Given the description of an element on the screen output the (x, y) to click on. 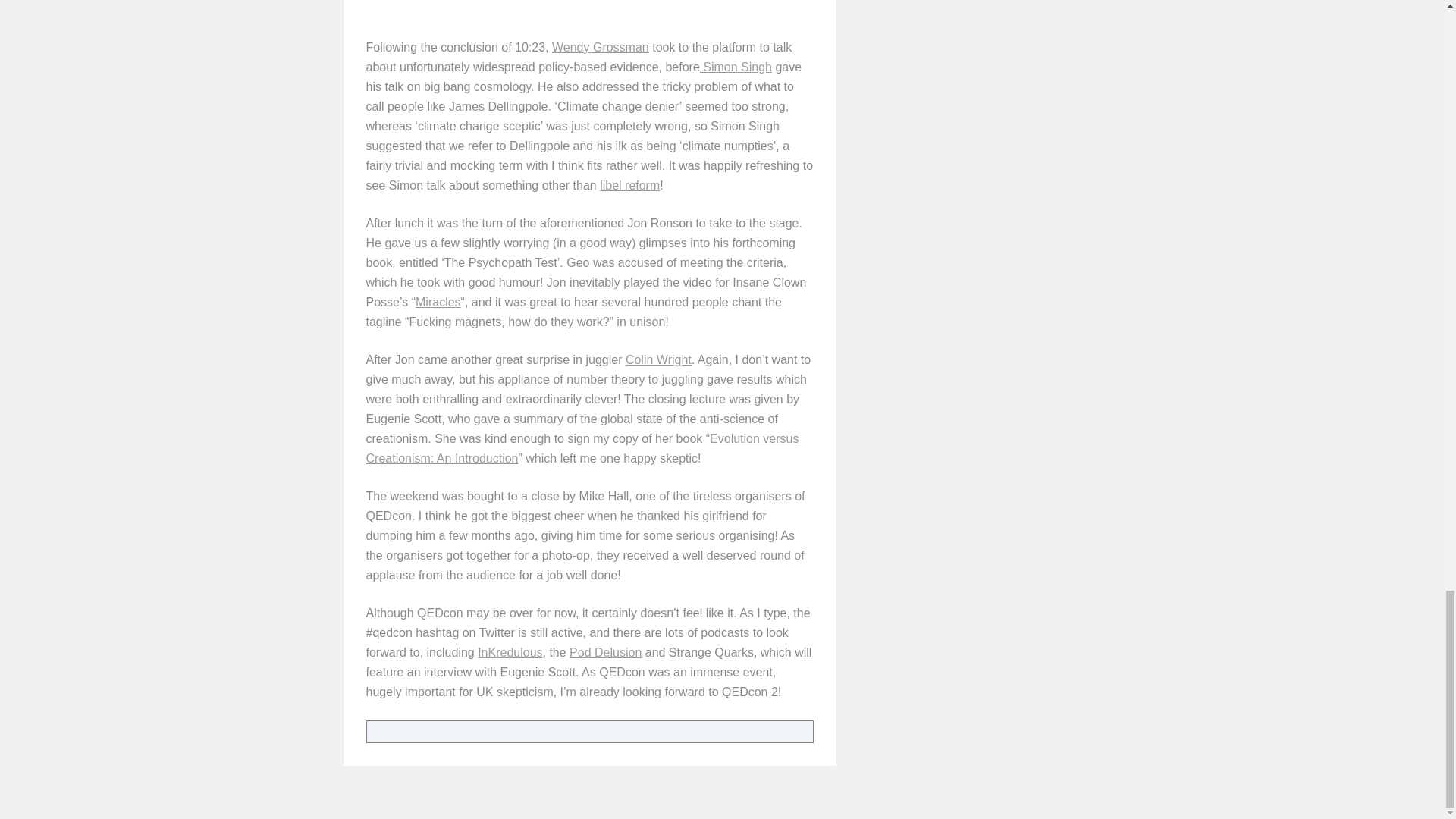
Simon Singh (735, 66)
Colin Wright (658, 359)
Pod Delusion (605, 652)
InKredulous (509, 652)
Wendy Grossman (600, 47)
Miracles (437, 301)
libel reform (629, 185)
Evolution versus Creationism: An Introduction (581, 448)
